Given the description of an element on the screen output the (x, y) to click on. 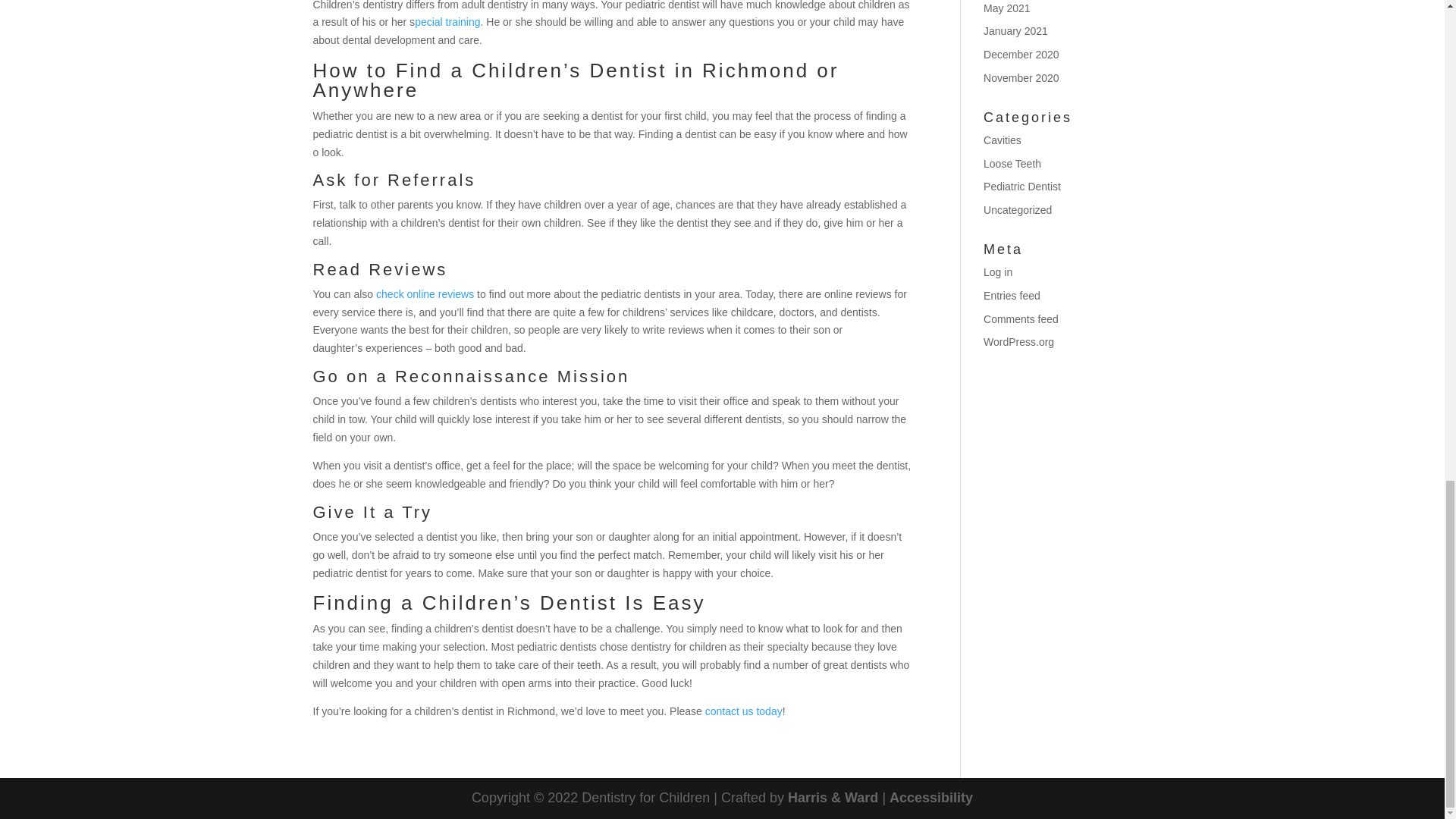
check online reviews (424, 294)
contact us today (743, 711)
pecial training (447, 21)
